Given the description of an element on the screen output the (x, y) to click on. 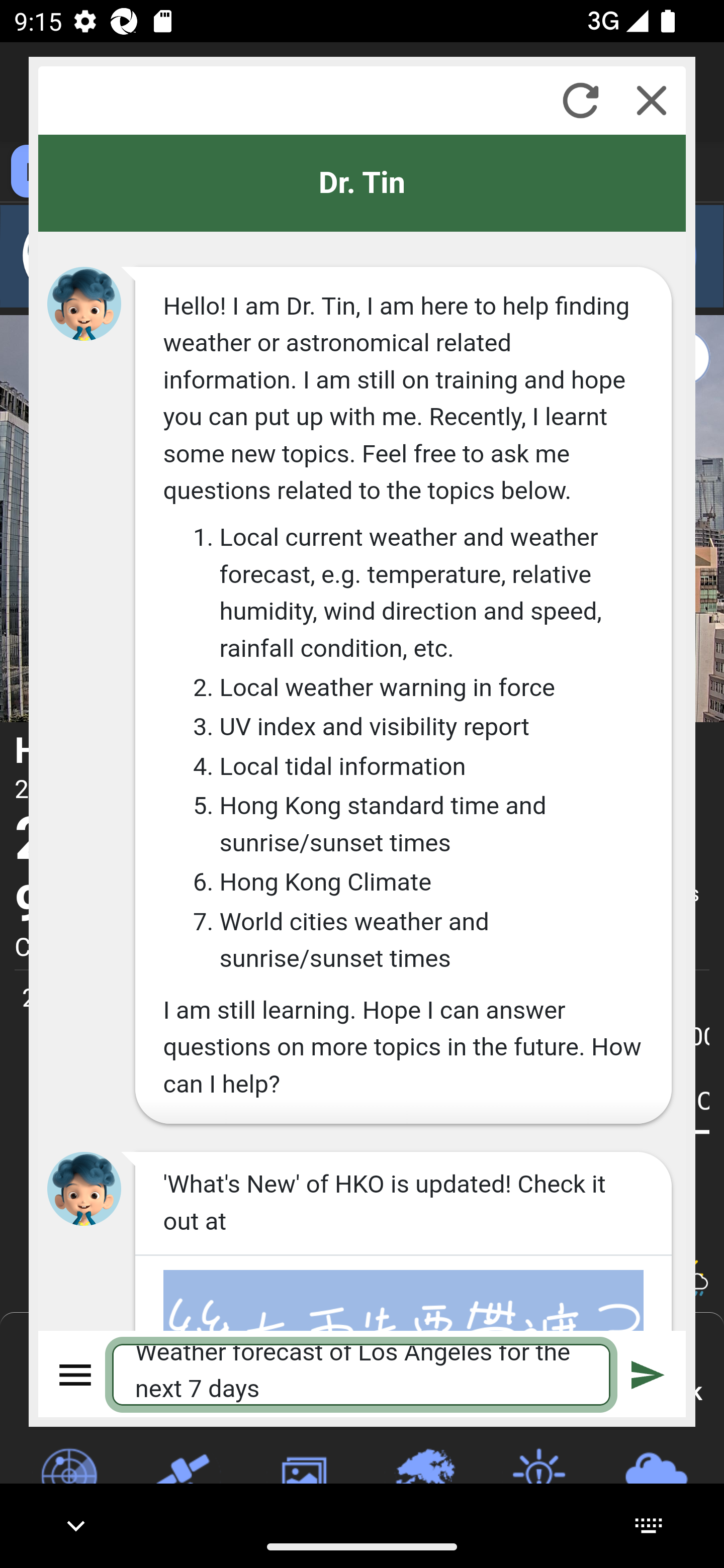
Refresh (580, 100)
Close (651, 100)
Menu (75, 1374)
Submit (648, 1374)
